Given the description of an element on the screen output the (x, y) to click on. 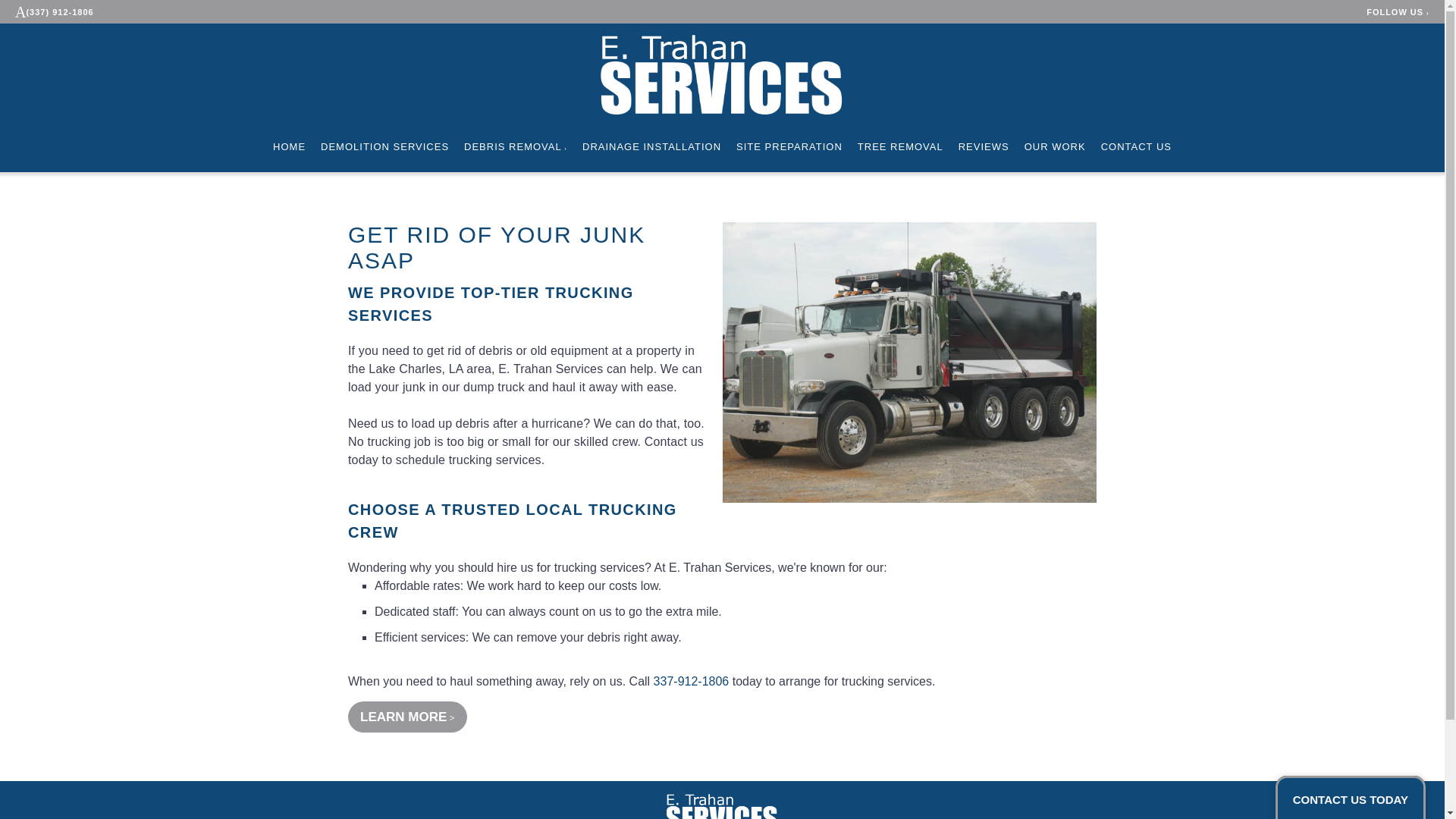
337-912-1806 (691, 680)
CONTACT US (1136, 147)
CONTACT US TODAY (1350, 800)
TREE REMOVAL (900, 147)
E. Trahan Services (722, 801)
REVIEWS (983, 147)
GET RID OF YOUR JUNK ASAP (496, 246)
SITE PREPARATION (789, 147)
DRAINAGE INSTALLATION (651, 147)
OUR WORK (1055, 147)
LEARN MORE (407, 716)
DEMOLITION SERVICES (384, 147)
HOME (289, 147)
